Given the description of an element on the screen output the (x, y) to click on. 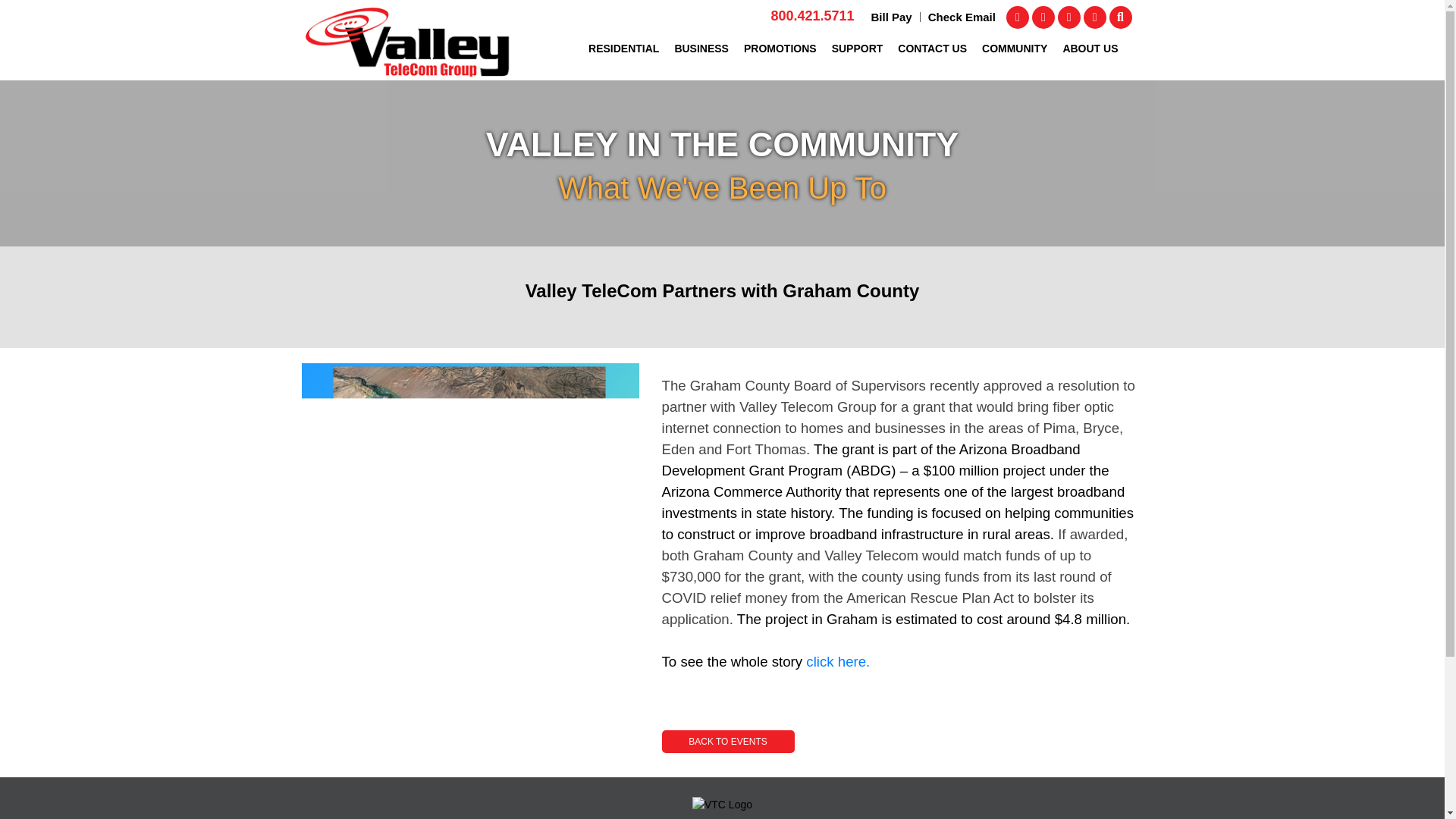
Search (1119, 16)
Bill Pay (891, 16)
BUSINESS (701, 53)
Check Email (961, 16)
Twitter (1043, 16)
Instagram (1069, 16)
800.421.5711 (811, 15)
LinkedIn (1094, 16)
Check Email (961, 16)
Facebook (1017, 16)
